Given the description of an element on the screen output the (x, y) to click on. 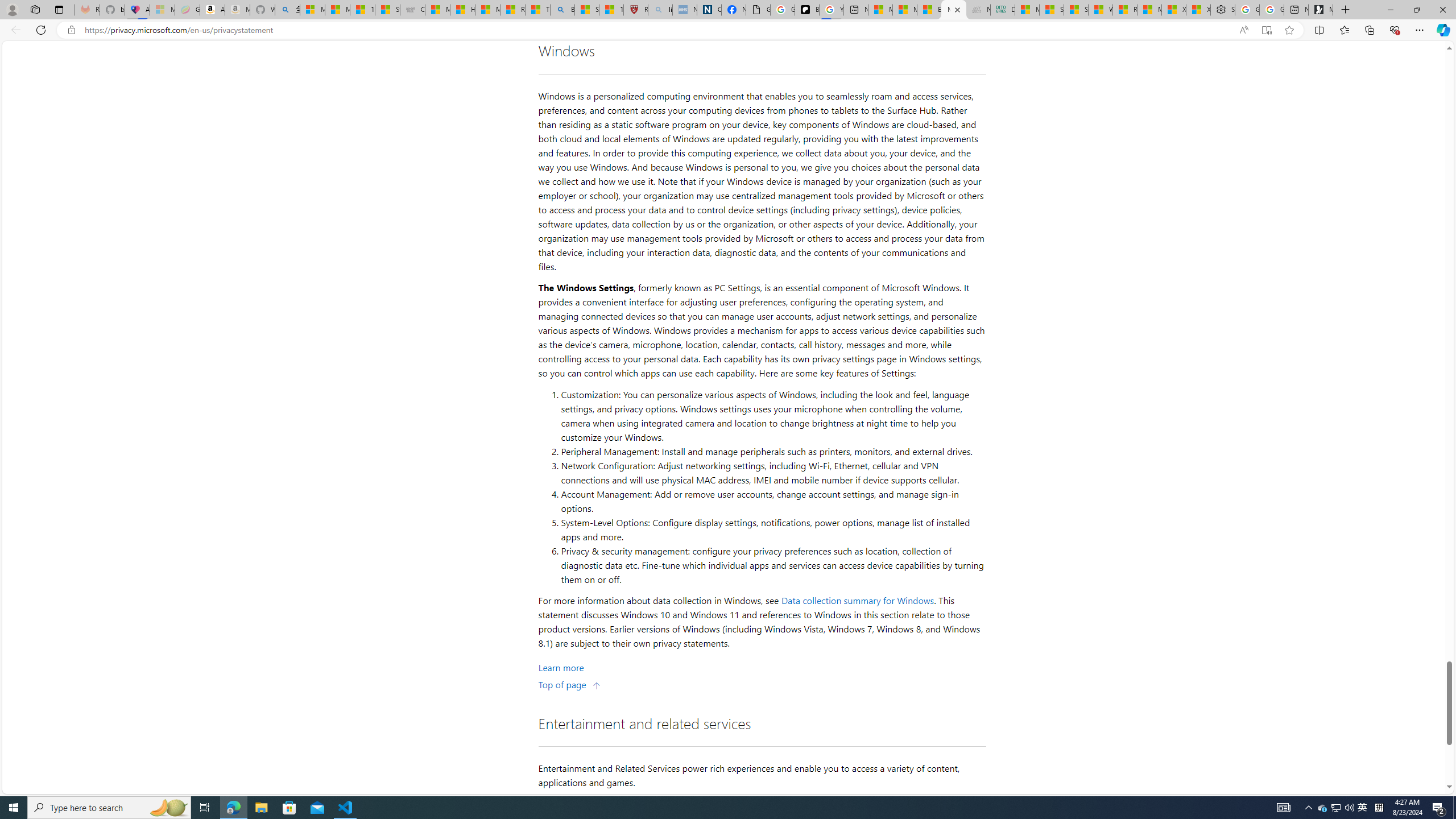
Top of page (569, 684)
